Given the description of an element on the screen output the (x, y) to click on. 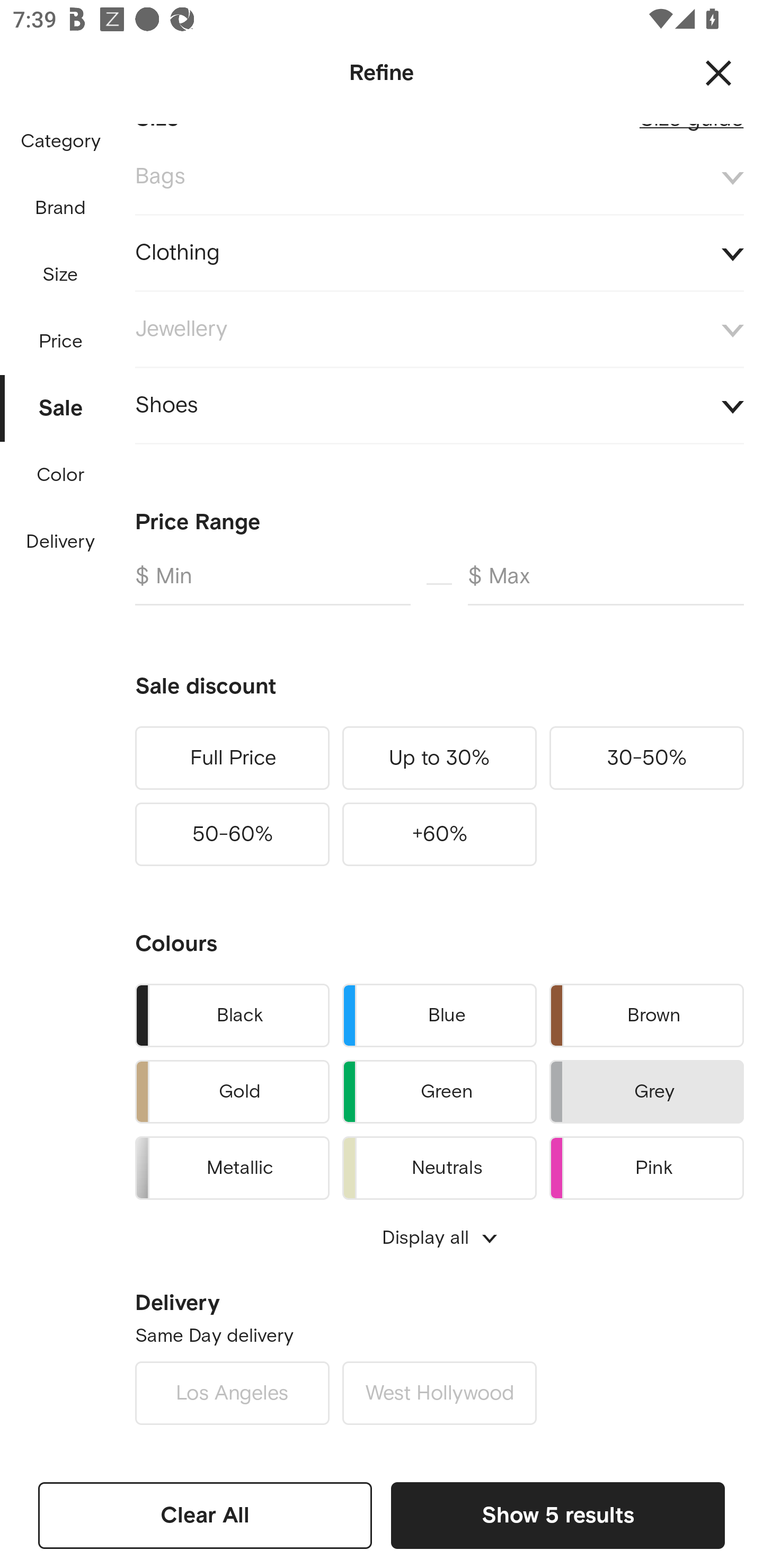
Category (60, 141)
Bags (439, 176)
Brand (60, 208)
Clothing (439, 252)
Size (60, 274)
Jewellery (439, 328)
Price (60, 337)
Shoes (439, 404)
Sale (60, 403)
Color (60, 475)
Delivery (60, 542)
$ Min (272, 583)
$ Max (605, 583)
Full Price (232, 757)
Up to 30% (439, 757)
30-50% (646, 757)
50-60% (232, 833)
+60% (439, 833)
Black (232, 1014)
Blue (439, 1014)
Brown (646, 1014)
Gold (232, 1091)
Green (439, 1091)
Grey (646, 1091)
Metallic (232, 1164)
Neutrals (439, 1164)
Pink (646, 1164)
Display all (439, 1237)
Los Angeles (232, 1392)
West Hollywood (439, 1392)
Clear All (205, 1515)
Show 5 results (557, 1515)
